Given the description of an element on the screen output the (x, y) to click on. 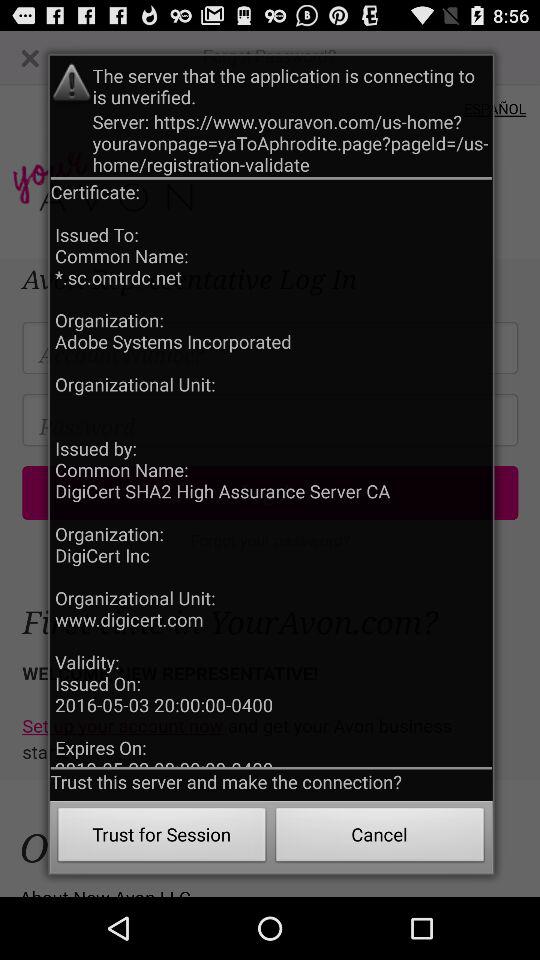
launch the trust for session button (162, 837)
